Given the description of an element on the screen output the (x, y) to click on. 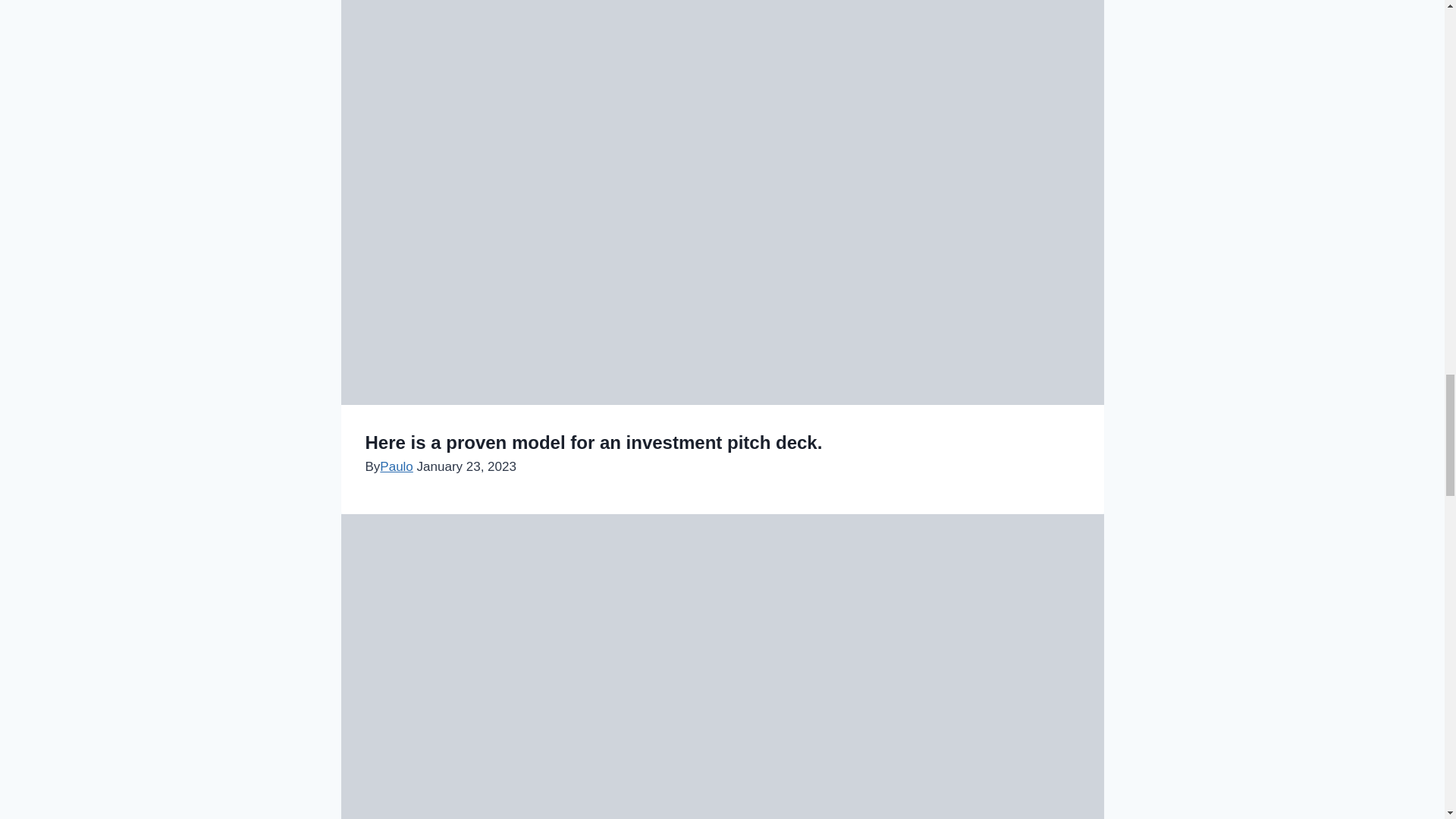
Paulo (396, 466)
Here is a proven model for an investment pitch deck. (593, 442)
